Given the description of an element on the screen output the (x, y) to click on. 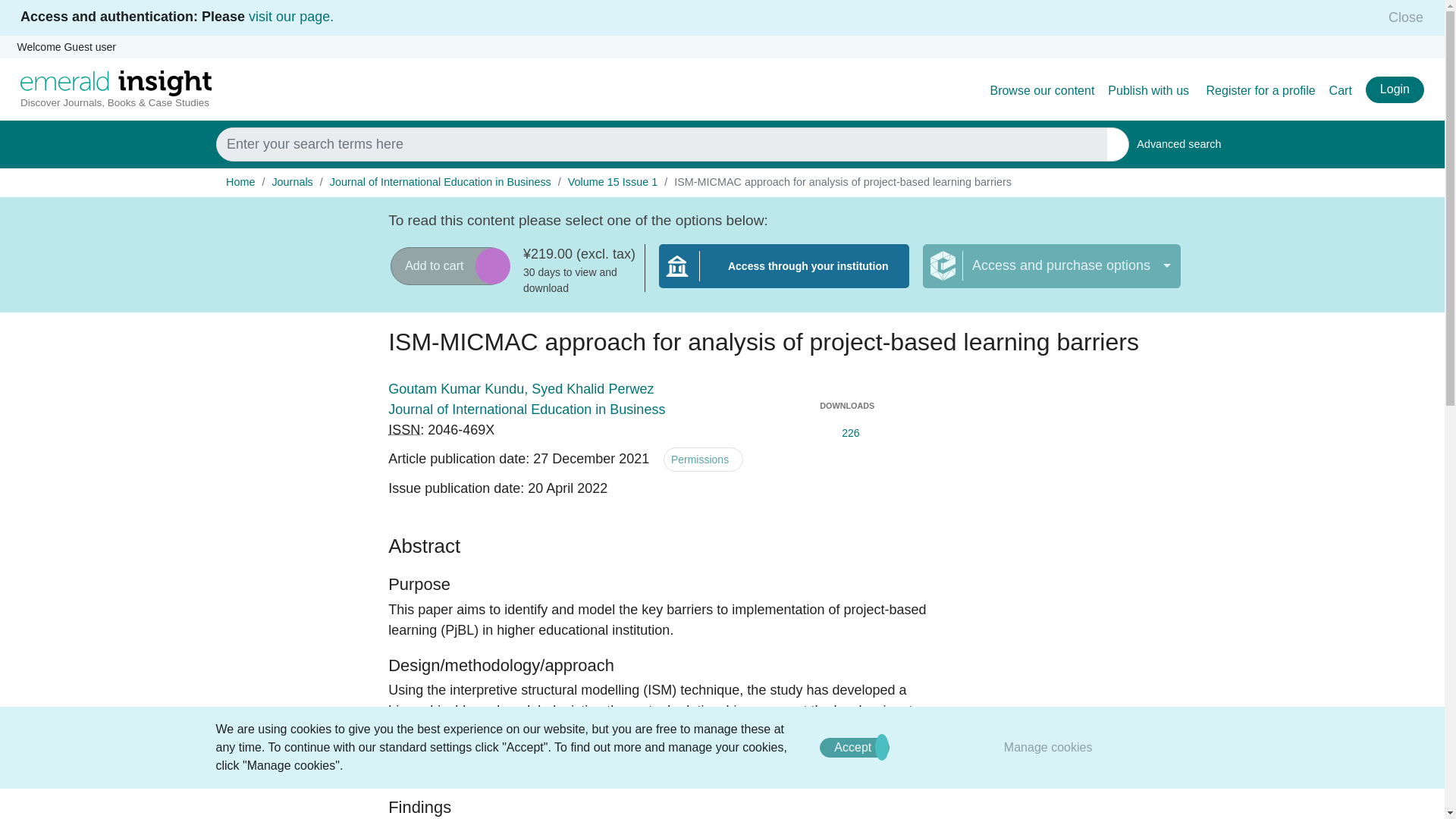
Browse our content (1042, 90)
Cart (1340, 90)
Journals (291, 182)
Manage cookies (1047, 747)
visit our page. (290, 16)
Access through your institution (783, 275)
Publish with us (1150, 90)
View contributors (668, 389)
Close (1401, 17)
International Standard Serial Number. (404, 429)
Login (1178, 144)
Register for a profile (1394, 89)
